Given the description of an element on the screen output the (x, y) to click on. 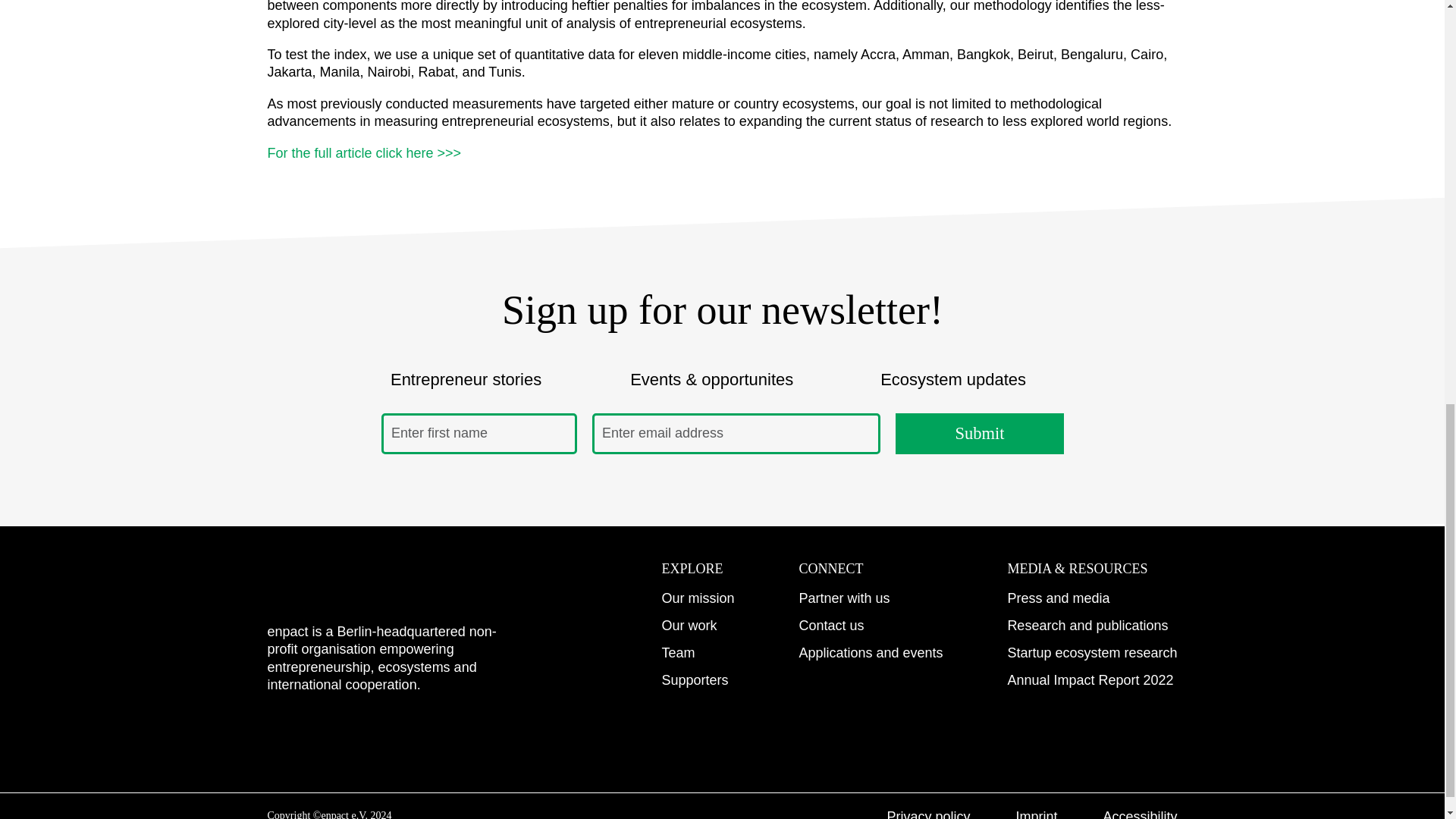
Submit (978, 433)
Twitter (464, 733)
LinkedIn (341, 733)
Instagram (278, 733)
Our work (688, 625)
Supporters (694, 679)
Our mission (697, 598)
Facebook (402, 733)
Team (677, 652)
